Given the description of an element on the screen output the (x, y) to click on. 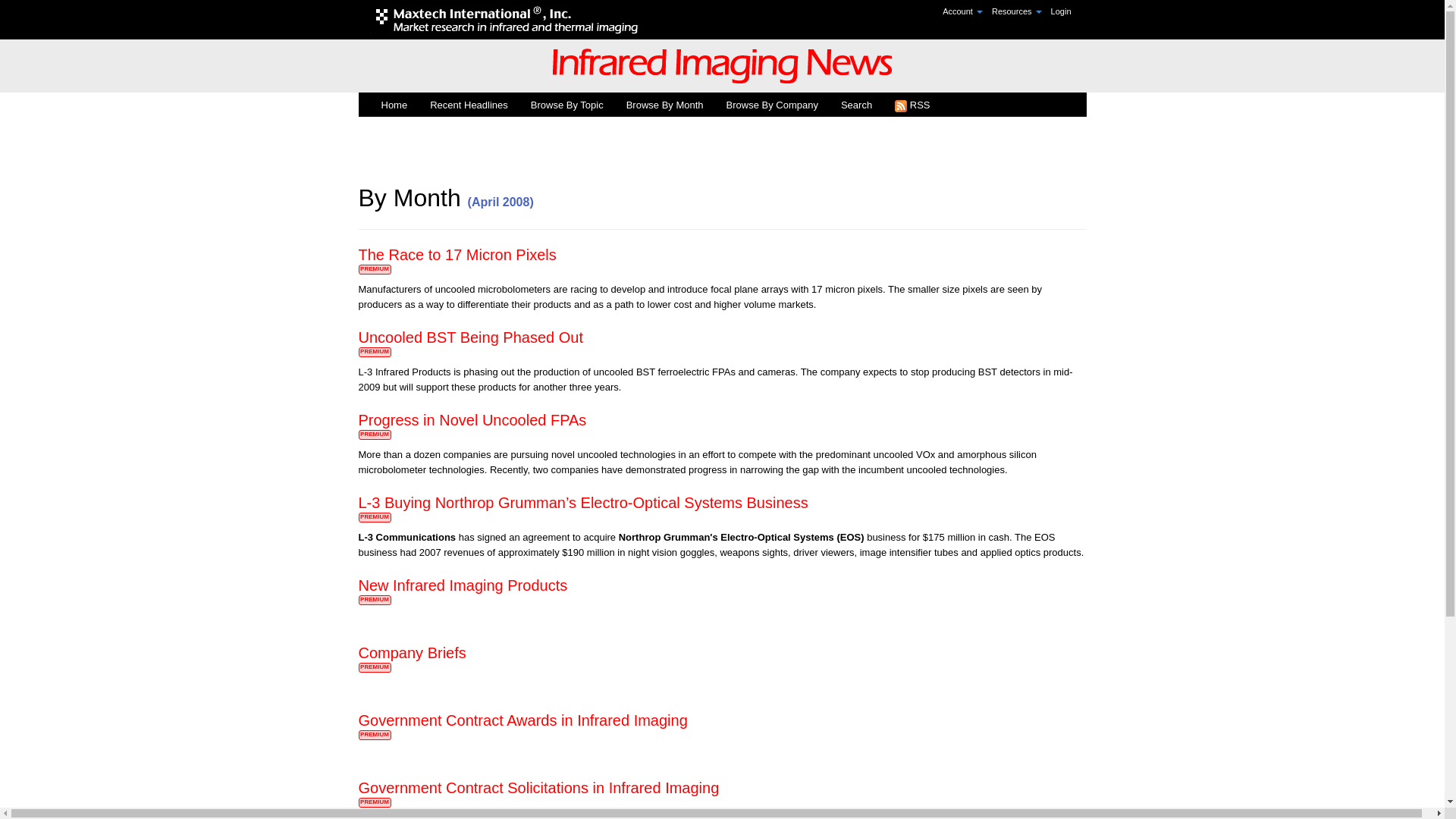
Government Contract Awards in Infrared Imaging (522, 719)
Browse By Company (771, 104)
Account (963, 11)
Progress in Novel Uncooled FPAs (472, 419)
Government Contract Solicitations in Infrared Imaging (538, 787)
Login (1060, 11)
The Race to 17 Micron Pixels (457, 254)
Browse By Month (664, 104)
Uncooled BST Being Phased Out (470, 337)
Search (856, 104)
